Given the description of an element on the screen output the (x, y) to click on. 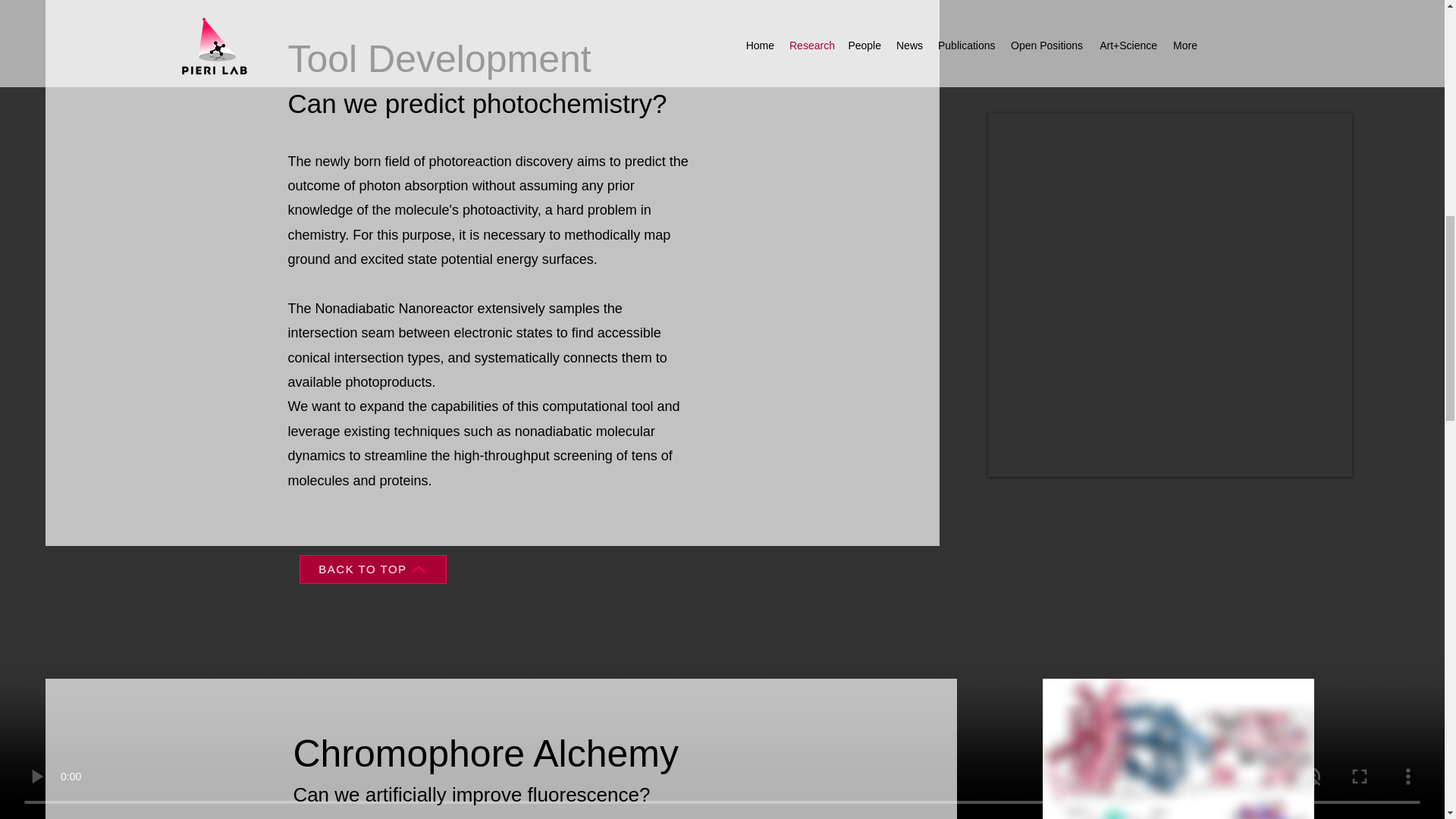
BACK TO TOP (371, 569)
